Given the description of an element on the screen output the (x, y) to click on. 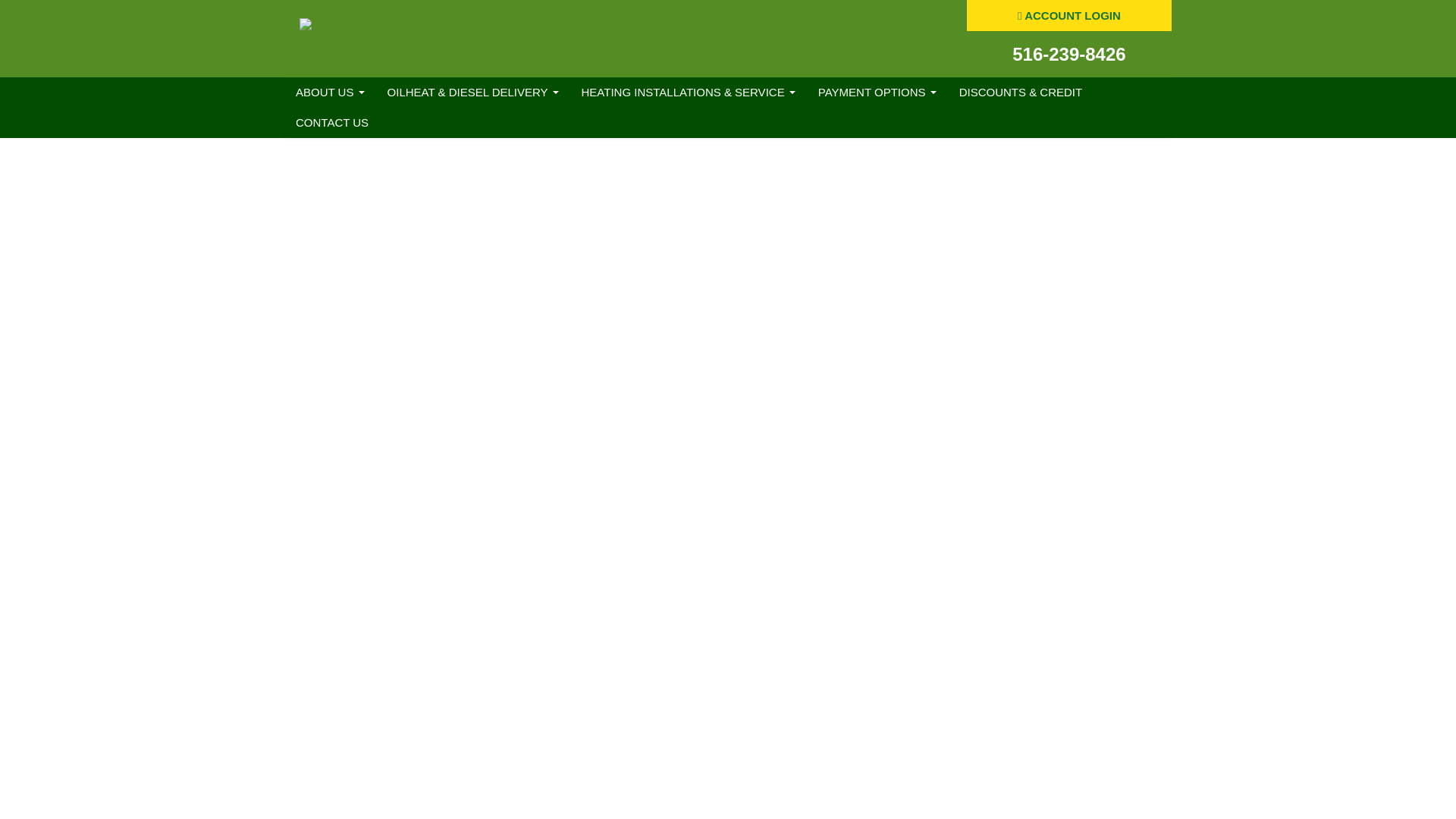
PAYMENT OPTIONS (876, 91)
ABOUT US (329, 91)
516-239-8426 (1068, 54)
ACCOUNT LOGIN (1069, 15)
